Given the description of an element on the screen output the (x, y) to click on. 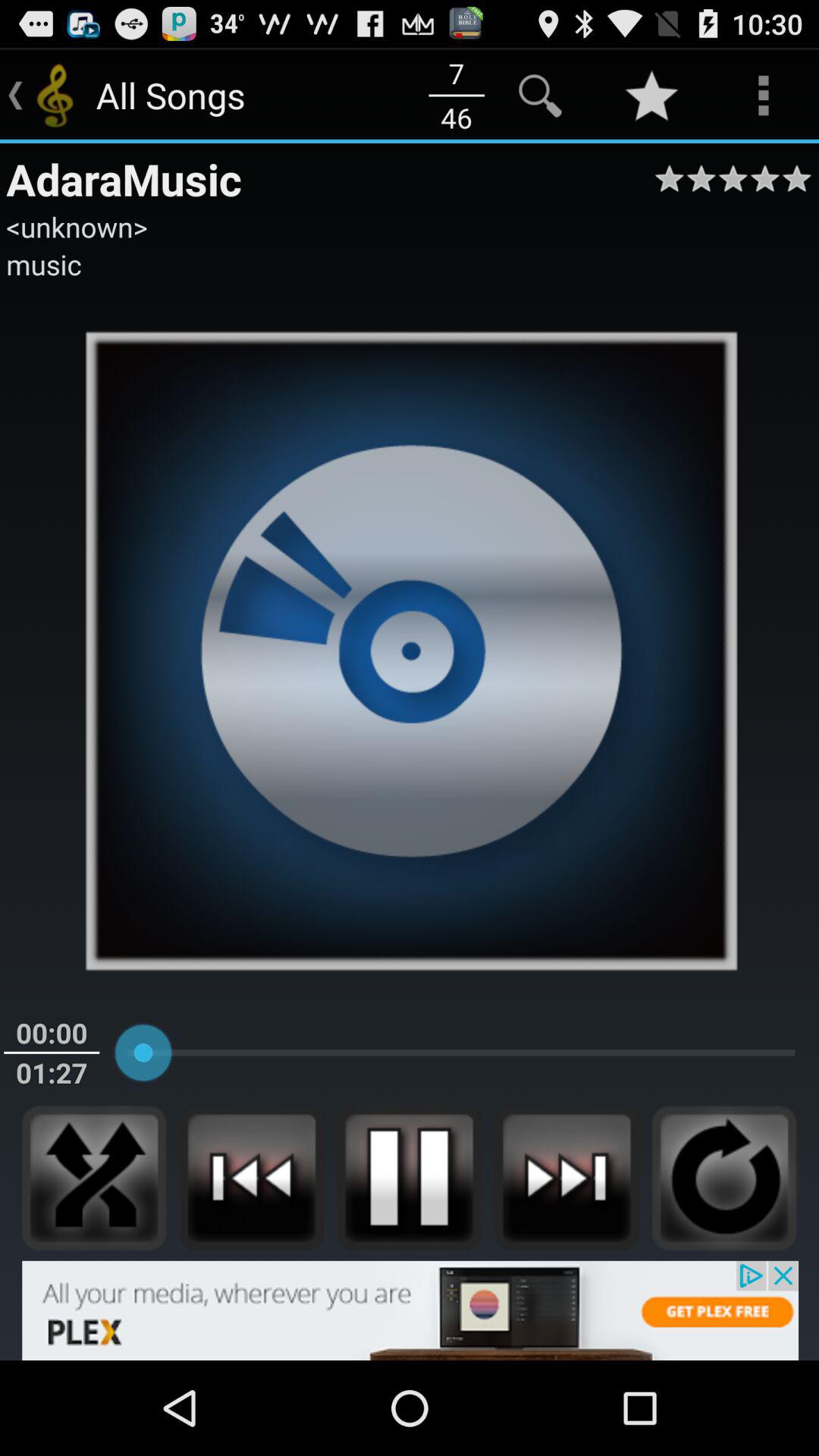
replay song (724, 1177)
